Given the description of an element on the screen output the (x, y) to click on. 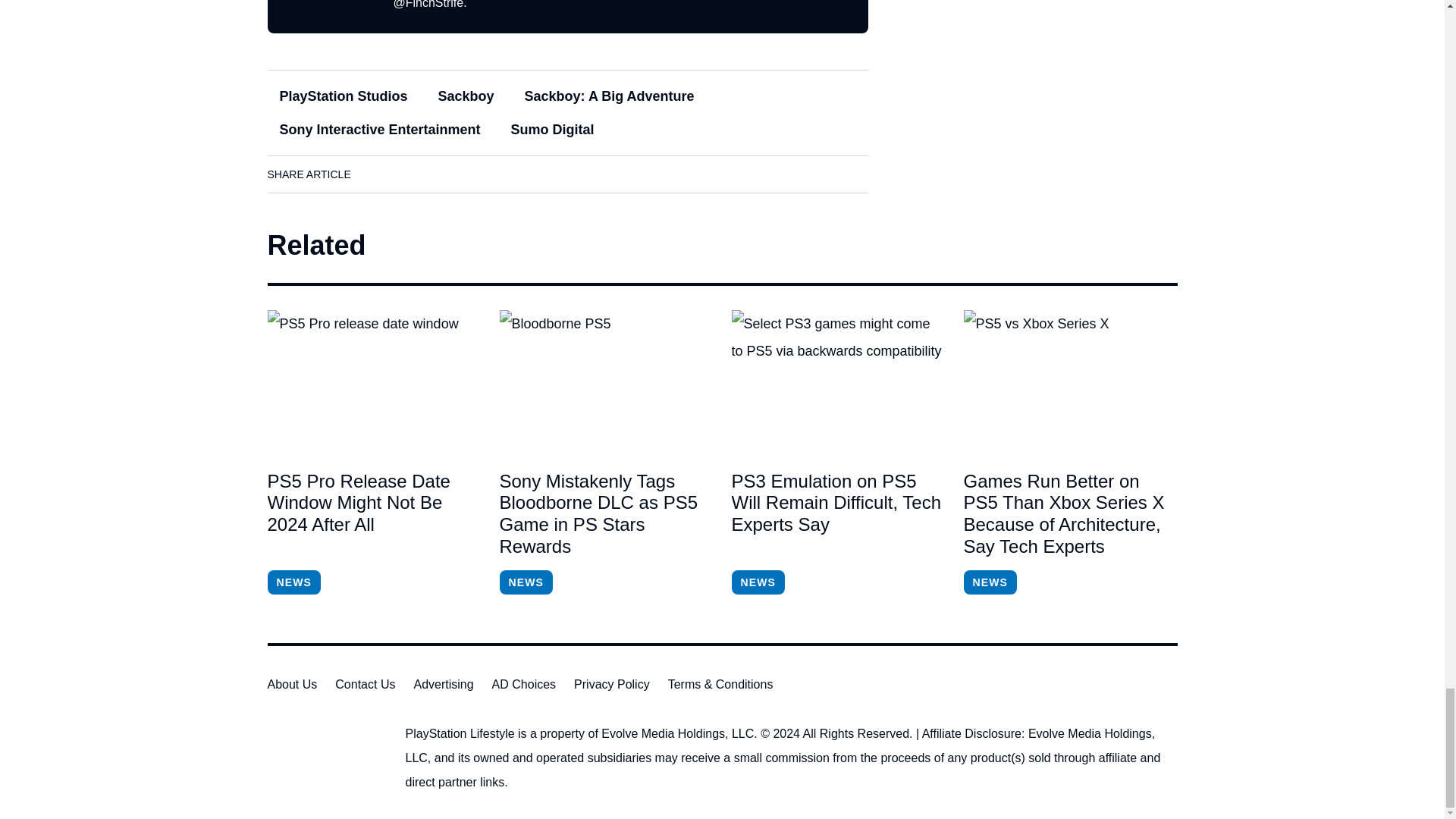
LinkedIn (420, 174)
PlayStation Studios (342, 95)
Sackboy (466, 95)
Sony Interactive Entertainment (379, 129)
PS5 Pro Release Date Window Might Not Be 2024 After All (373, 513)
Sumo Digital (553, 129)
Twitter (463, 174)
PS5 Pro Release Date Window Might Not Be 2024 After All (373, 381)
Sackboy: A Big Adventure (609, 95)
Facebook (377, 174)
PS3 Emulation on PS5 Will Remain Difficult, Tech Experts Say (837, 381)
Pinterest (505, 174)
